Given the description of an element on the screen output the (x, y) to click on. 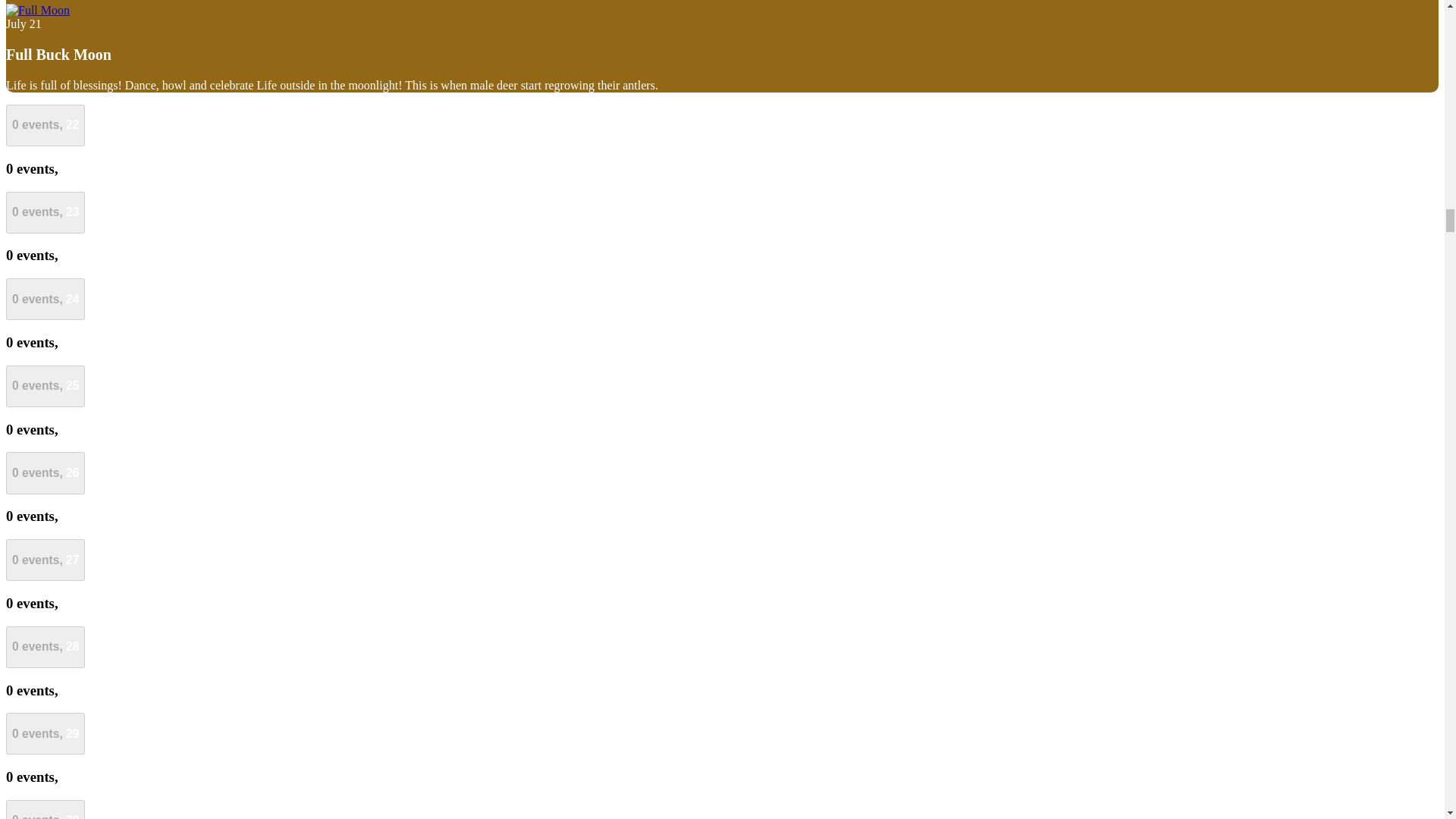
Full Buck Moon (37, 10)
Full Moon (37, 10)
Full Buck Moon (58, 54)
